Given the description of an element on the screen output the (x, y) to click on. 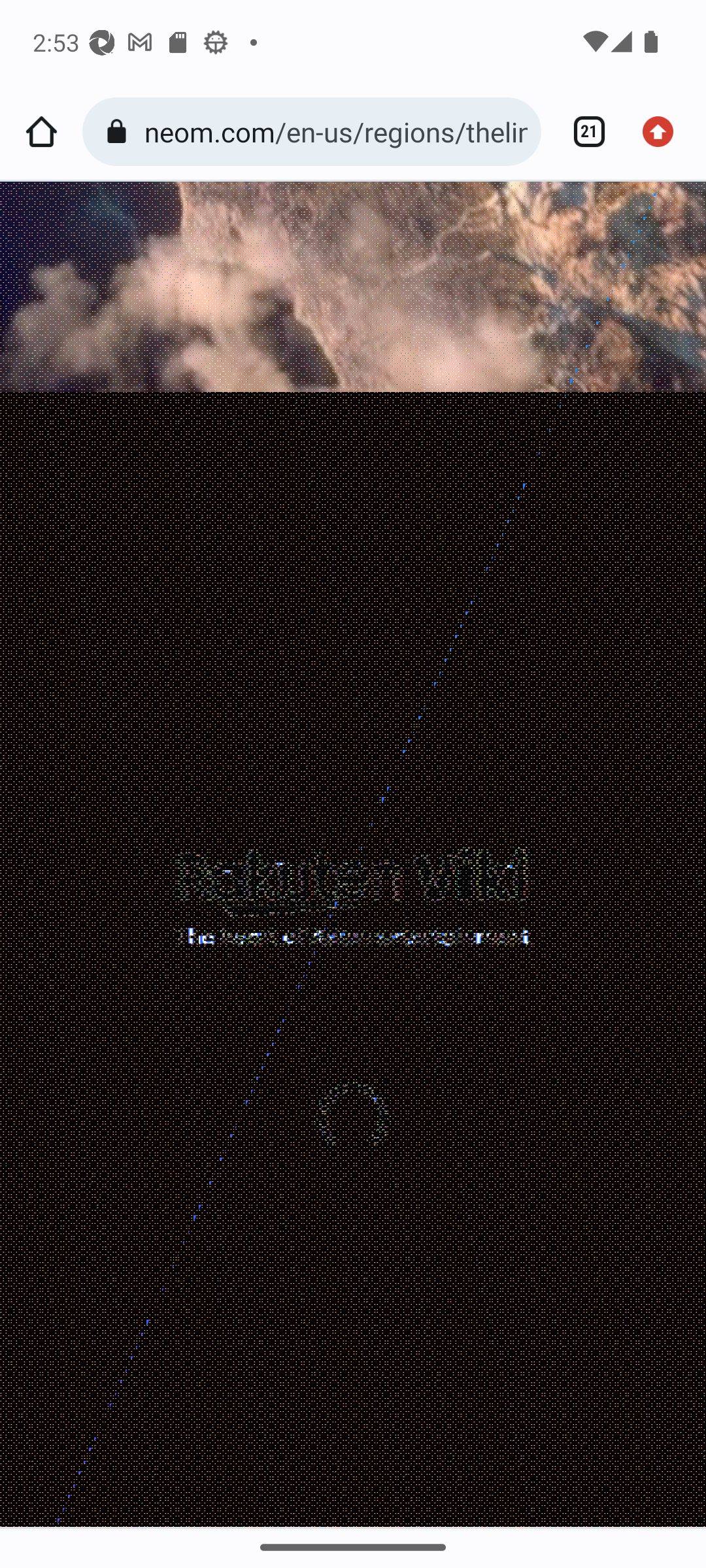
Home (41, 131)
Connection is secure (120, 131)
Switch or close tabs (582, 131)
Update available. More options (664, 131)
